Given the description of an element on the screen output the (x, y) to click on. 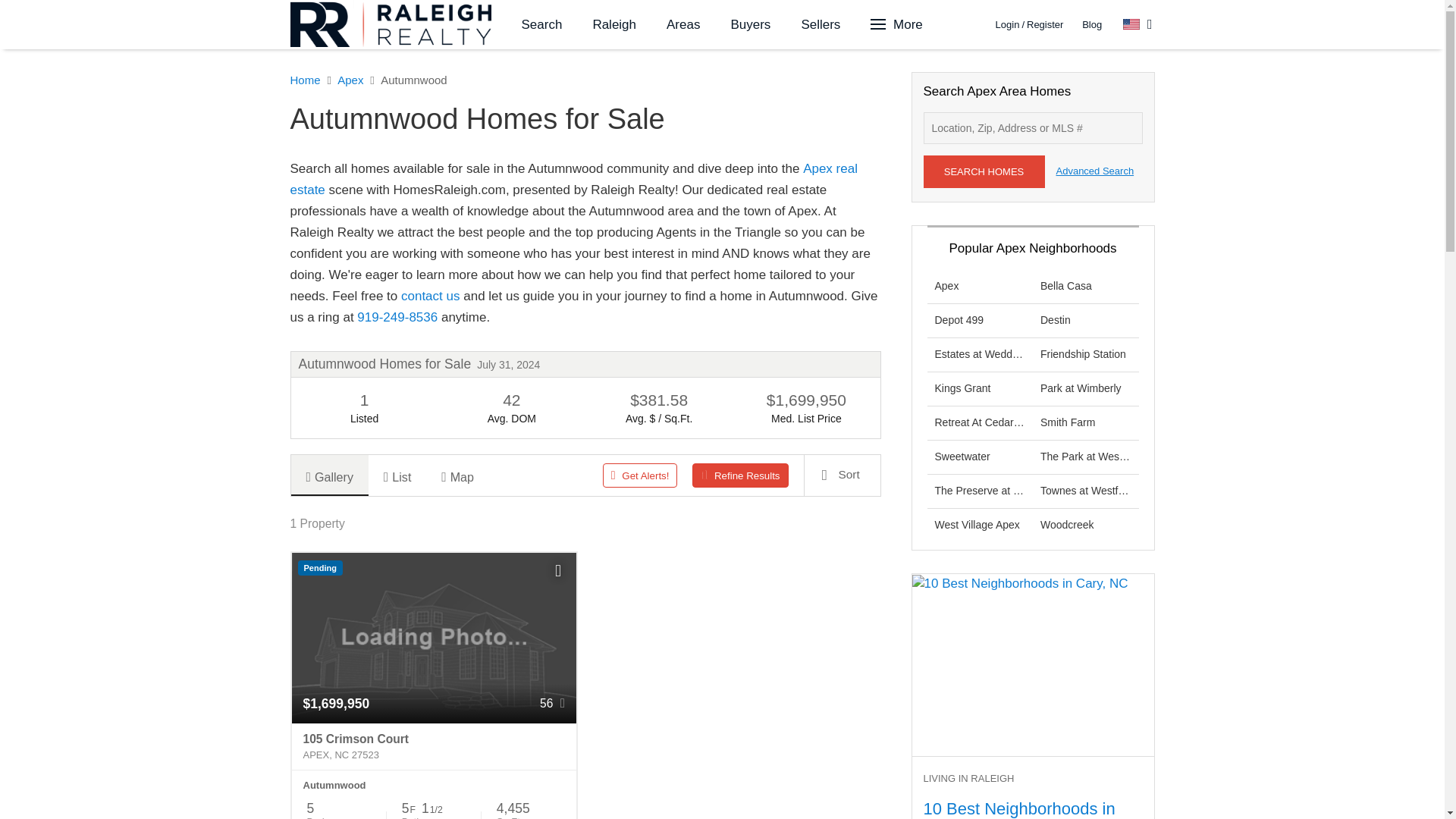
Buyers (750, 24)
Apex NC Real Estate and Homes for Sale (573, 179)
105 Crimson Court Apex,  NC 27523 (433, 746)
Areas (682, 24)
Select Language (1137, 24)
Raleigh (613, 24)
Search (542, 24)
